Given the description of an element on the screen output the (x, y) to click on. 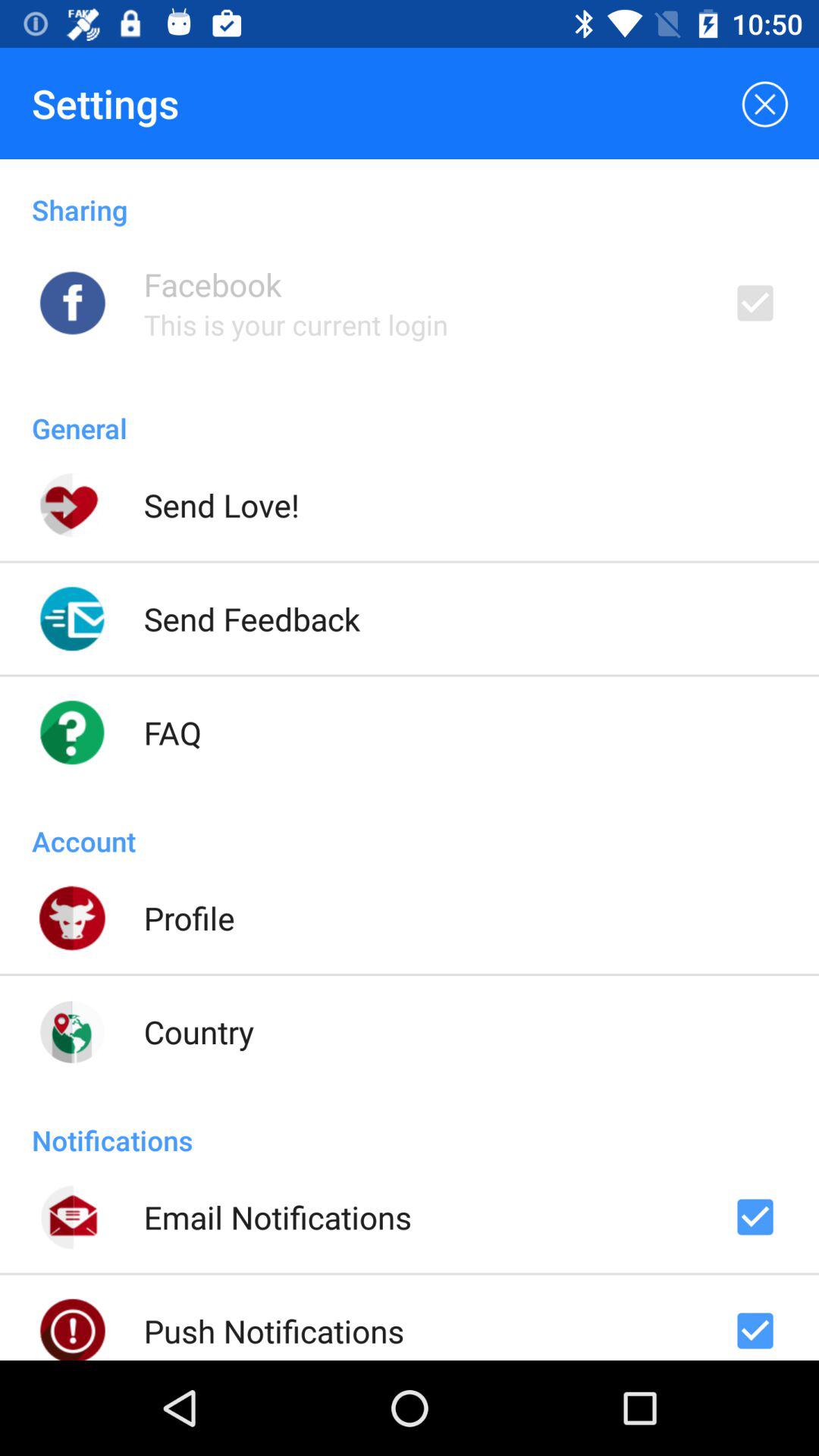
choose icon above the notifications icon (198, 1031)
